Given the description of an element on the screen output the (x, y) to click on. 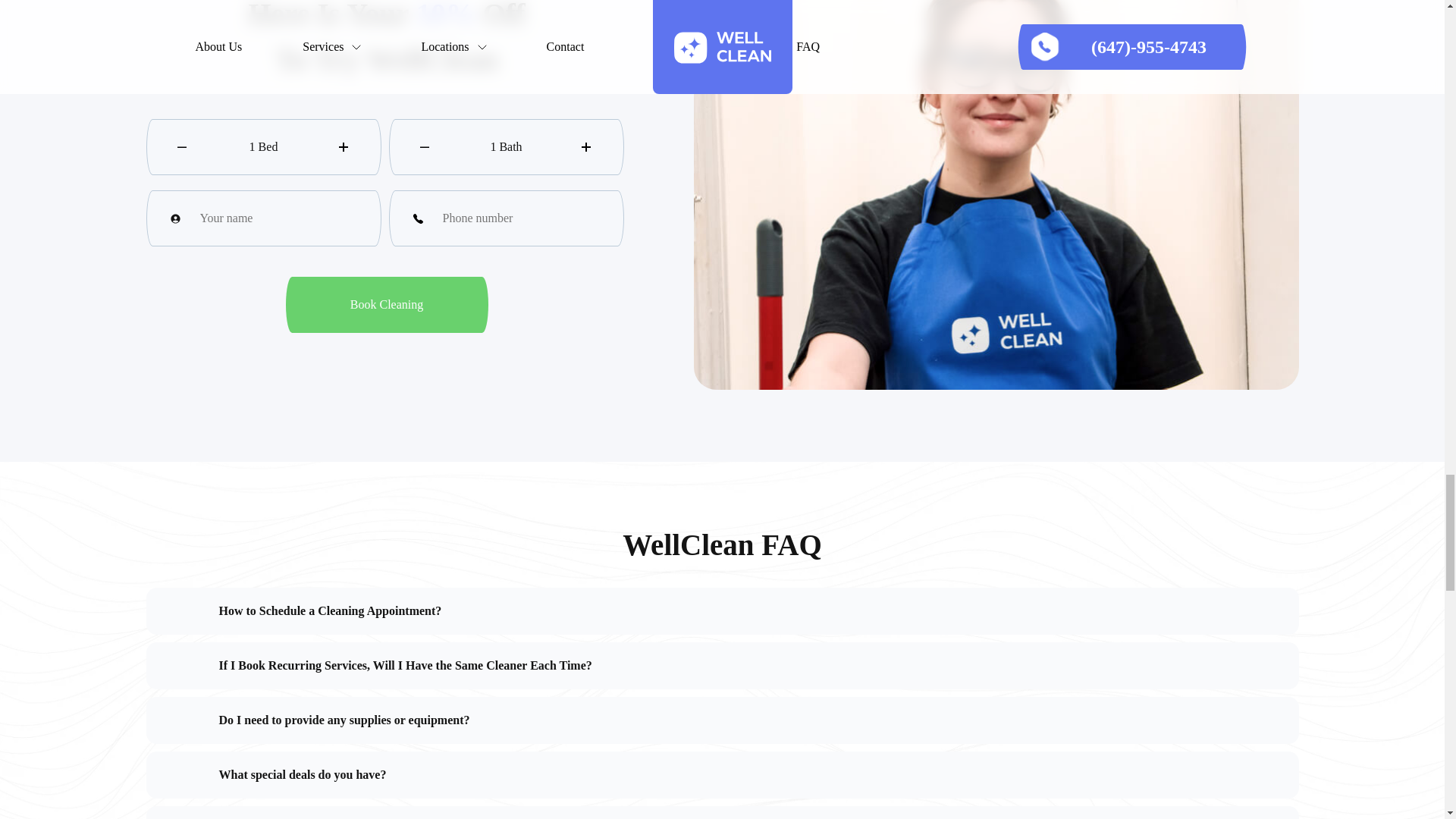
Book Cleaning (386, 304)
1 Bath (505, 146)
1 Bed (262, 146)
